Given the description of an element on the screen output the (x, y) to click on. 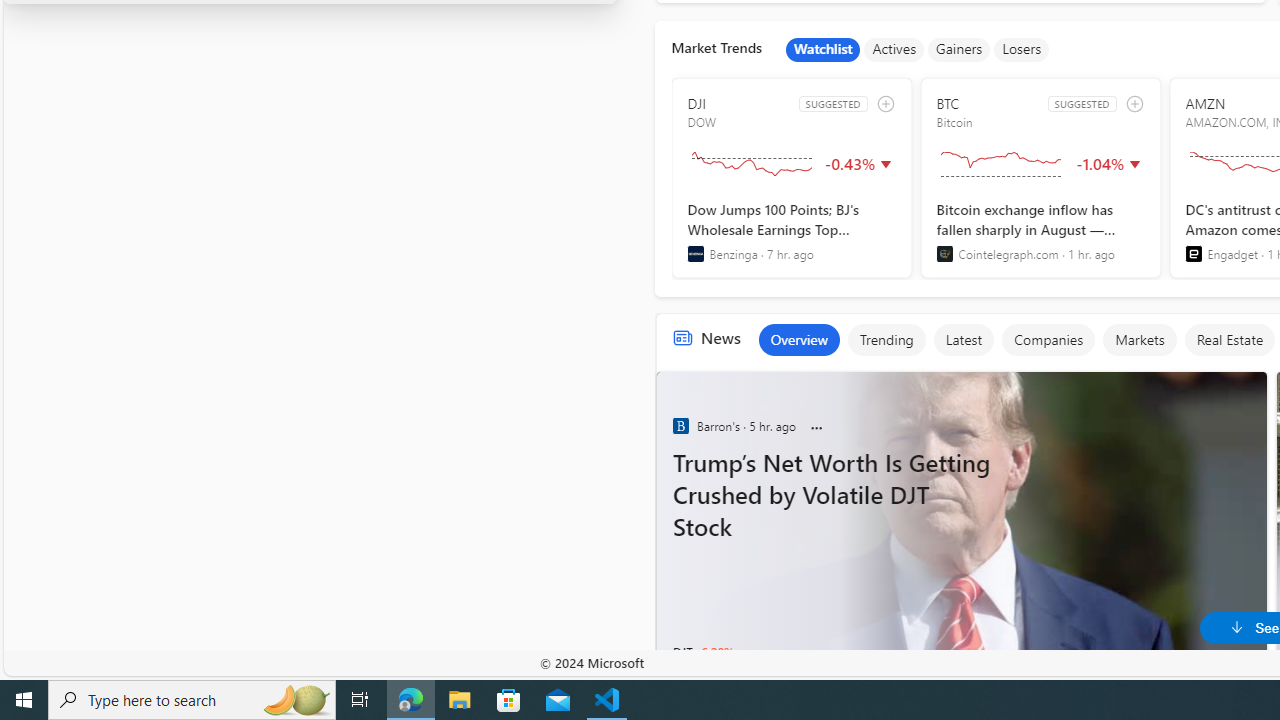
Benzinga (680, 426)
Dow Jumps 100 Points; BJ's Wholesale Earnings Top Estimates (791, 231)
Losers (1021, 49)
Cointelegraph.com (944, 254)
Actives (894, 49)
Real Estate (1229, 339)
